Given the description of an element on the screen output the (x, y) to click on. 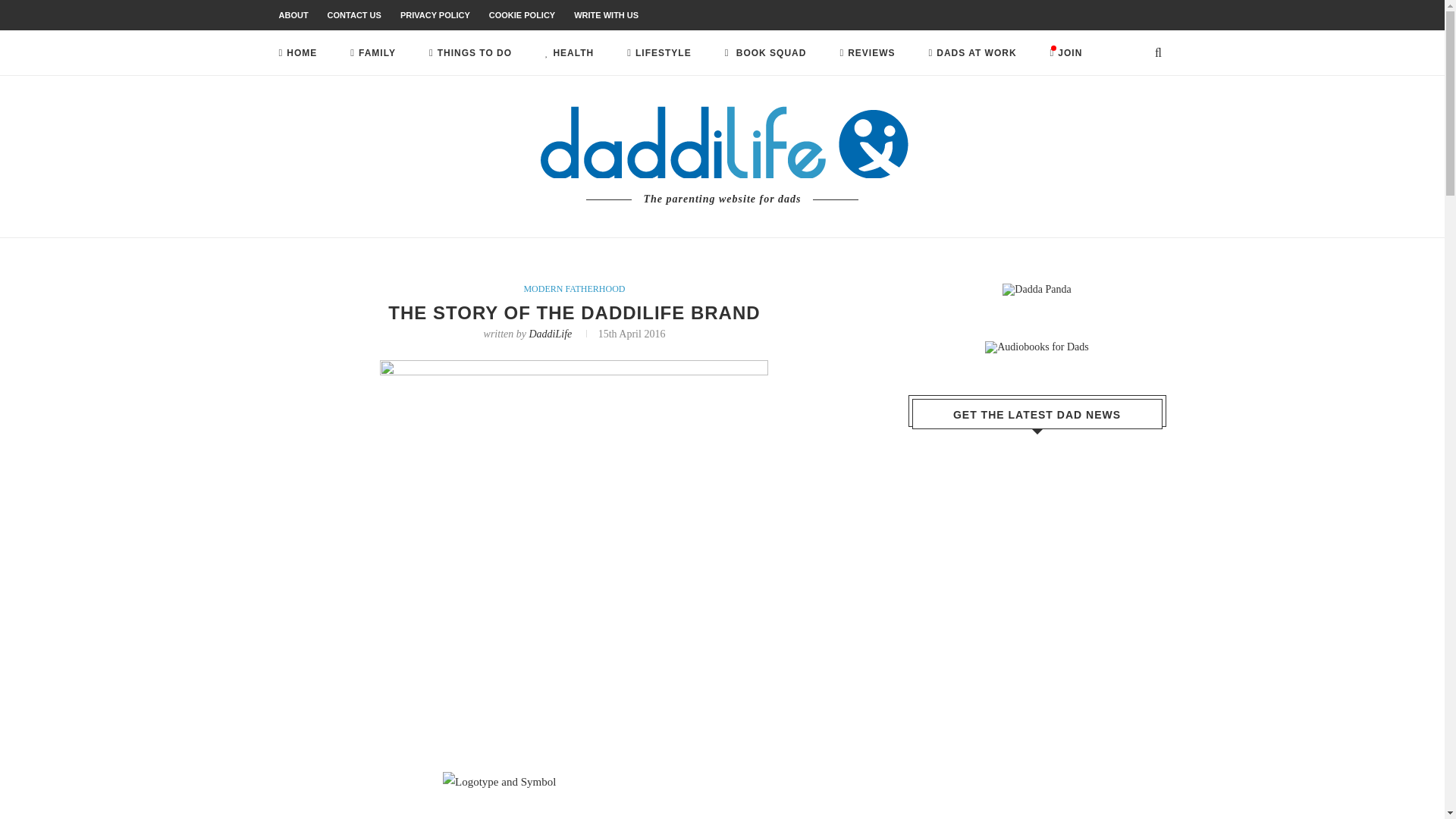
View all posts in Modern Fatherhood (573, 288)
